Given the description of an element on the screen output the (x, y) to click on. 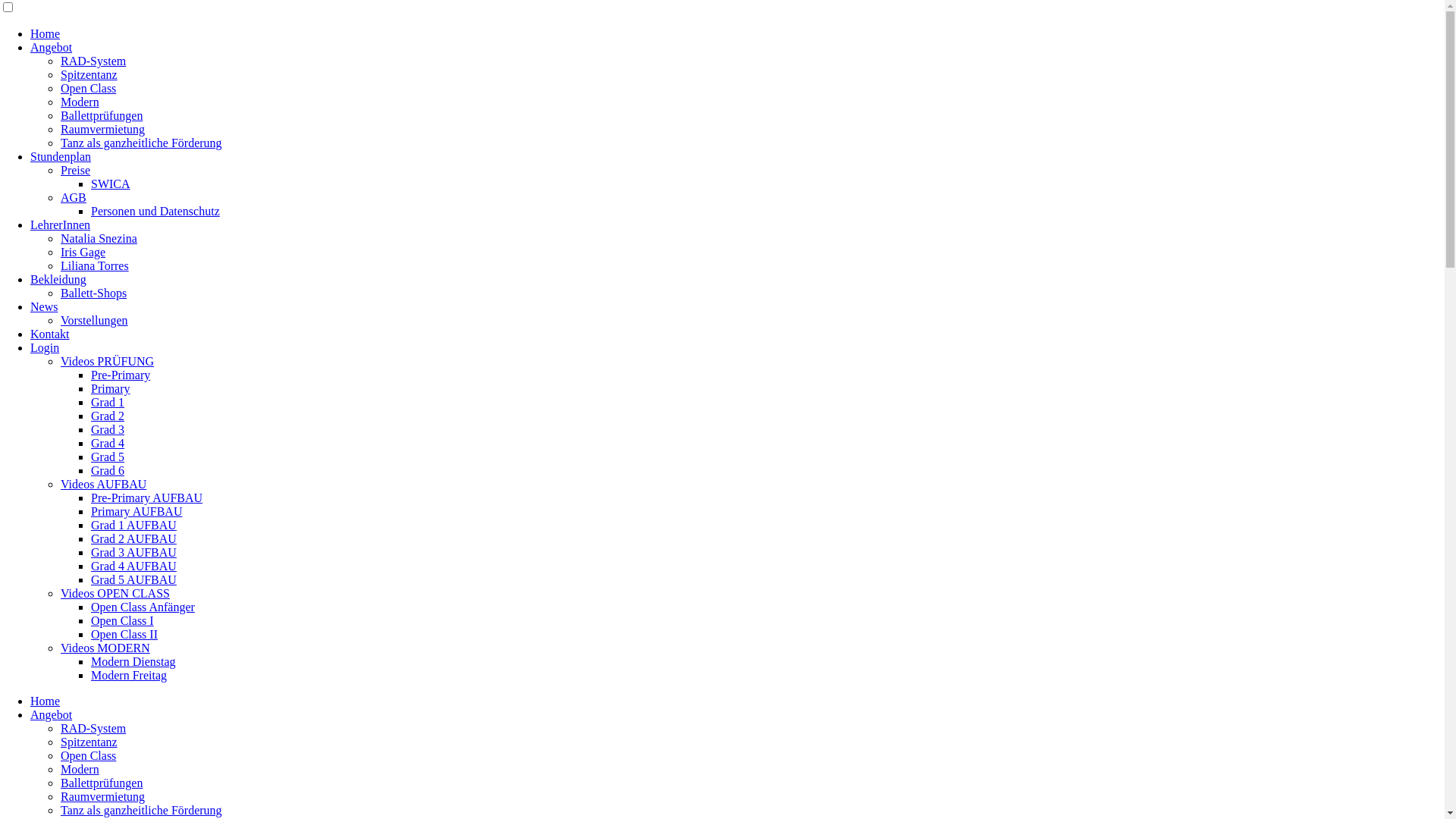
Videos MODERN Element type: text (105, 647)
Raumvermietung Element type: text (102, 128)
RAD-System Element type: text (92, 60)
Liliana Torres Element type: text (94, 265)
Open Class Element type: text (88, 87)
Ballett-Shops Element type: text (93, 292)
Modern Dienstag Element type: text (133, 661)
Iris Gage Element type: text (82, 251)
Spitzentanz Element type: text (88, 741)
Grad 5 AUFBAU Element type: text (133, 579)
Grad 2 Element type: text (107, 415)
Grad 1 Element type: text (107, 401)
AGB Element type: text (73, 197)
Open Class Element type: text (88, 755)
LehrerInnen Element type: text (60, 224)
Grad 5 Element type: text (107, 456)
Grad 4 Element type: text (107, 442)
Grad 3 Element type: text (107, 429)
Grad 4 AUFBAU Element type: text (133, 565)
Login Element type: text (44, 347)
Pre-Primary AUFBAU Element type: text (146, 497)
Kontakt Element type: text (49, 333)
Angebot Element type: text (51, 46)
Primary AUFBAU Element type: text (136, 511)
Home Element type: text (44, 700)
Grad 6 Element type: text (107, 470)
Personen und Datenschutz Element type: text (155, 210)
Bekleidung Element type: text (58, 279)
Grad 2 AUFBAU Element type: text (133, 538)
Home Element type: text (44, 33)
Open Class II Element type: text (124, 633)
Primary Element type: text (110, 388)
Natalia Snezina Element type: text (98, 238)
Angebot Element type: text (51, 714)
Open Class I Element type: text (122, 620)
Modern Element type: text (79, 101)
Vorstellungen Element type: text (94, 319)
Stundenplan Element type: text (60, 156)
Modern Element type: text (79, 768)
Modern Freitag Element type: text (128, 674)
Grad 1 AUFBAU Element type: text (133, 524)
Preise Element type: text (75, 169)
Pre-Primary Element type: text (120, 374)
Grad 3 AUFBAU Element type: text (133, 552)
Videos AUFBAU Element type: text (103, 483)
SWICA Element type: text (110, 183)
Raumvermietung Element type: text (102, 796)
Spitzentanz Element type: text (88, 74)
Videos OPEN CLASS Element type: text (114, 592)
RAD-System Element type: text (92, 727)
News Element type: text (43, 306)
